Given the description of an element on the screen output the (x, y) to click on. 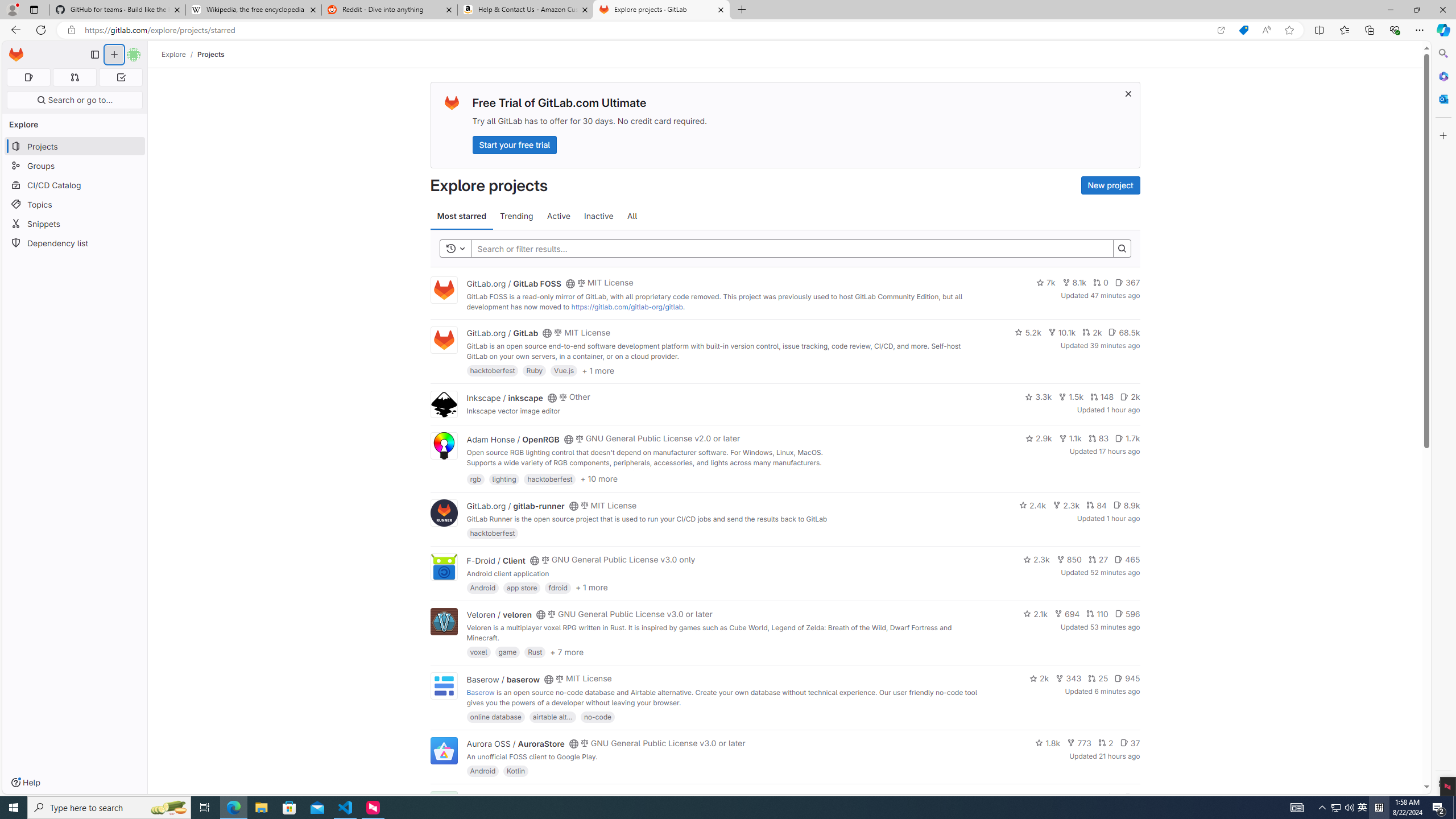
Snippets (74, 223)
110 (1097, 613)
6 (1132, 797)
lighting (504, 478)
8.1k (1073, 282)
850 (1068, 559)
Projects (211, 53)
8.9k (1126, 504)
F-Droid / Client (495, 560)
